Given the description of an element on the screen output the (x, y) to click on. 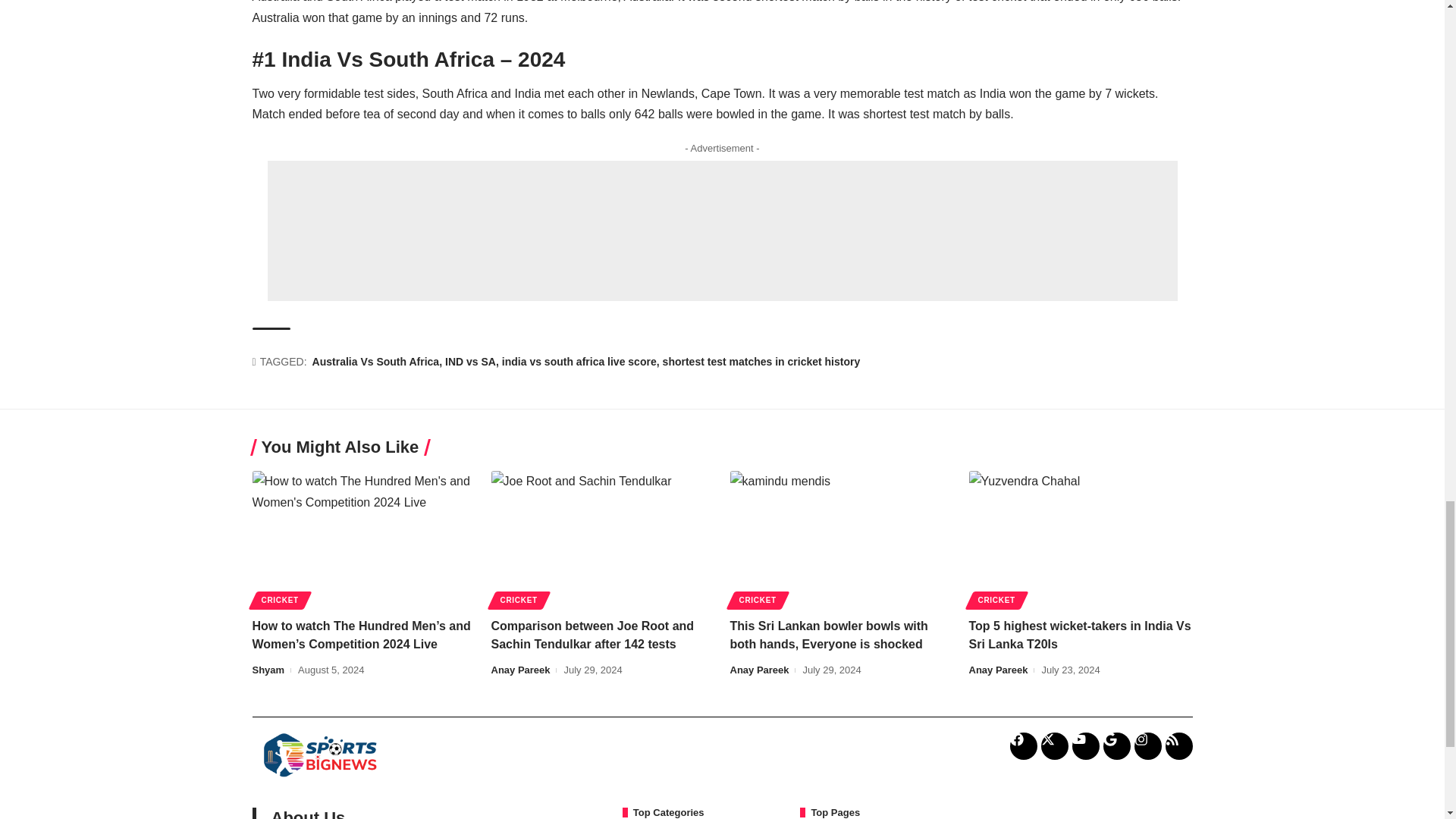
Top 5 highest wicket-takers in India Vs Sri Lanka T20Is (1080, 537)
